Given the description of an element on the screen output the (x, y) to click on. 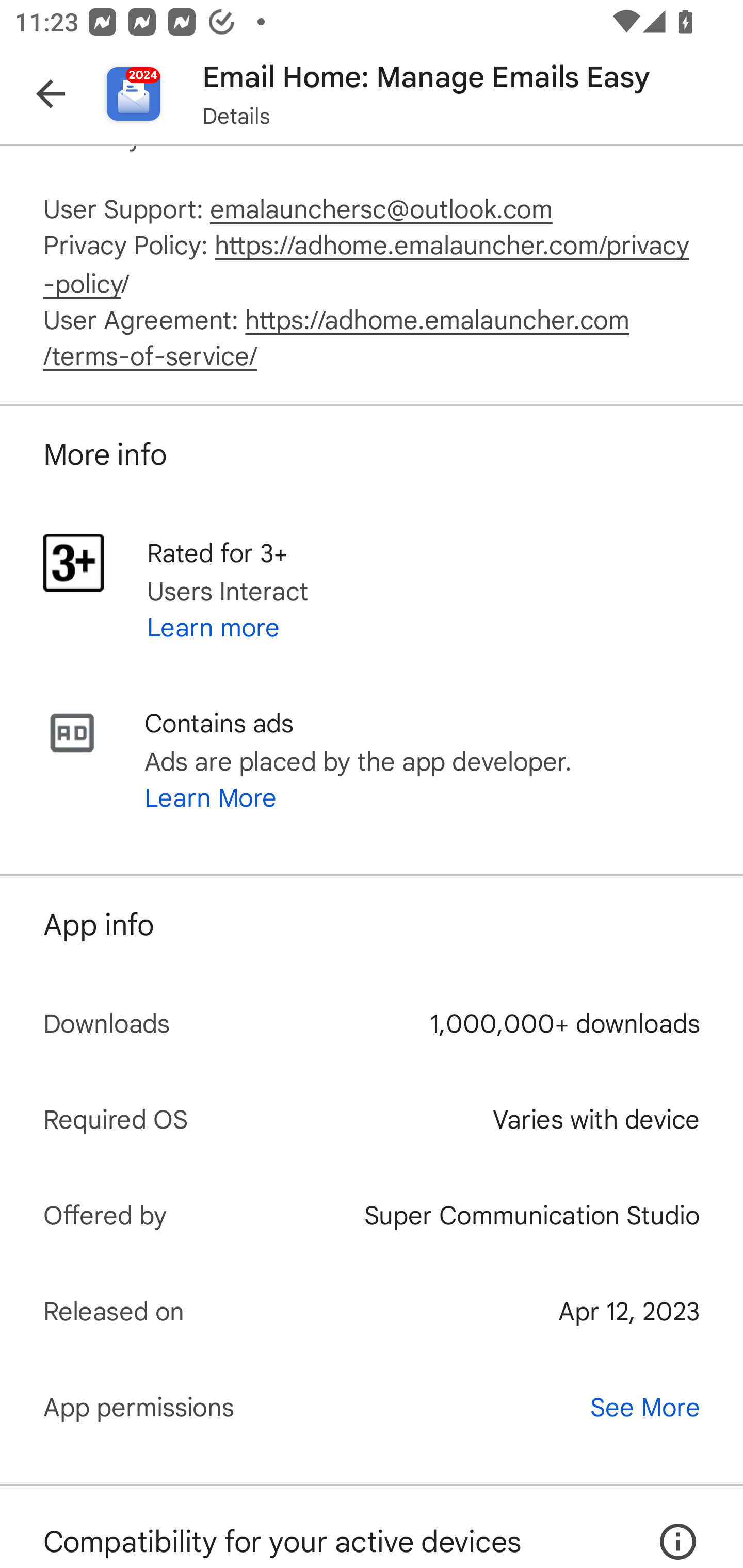
Navigate up (50, 93)
App permissions See More (371, 1407)
How this App works on your devices. (666, 1525)
